Given the description of an element on the screen output the (x, y) to click on. 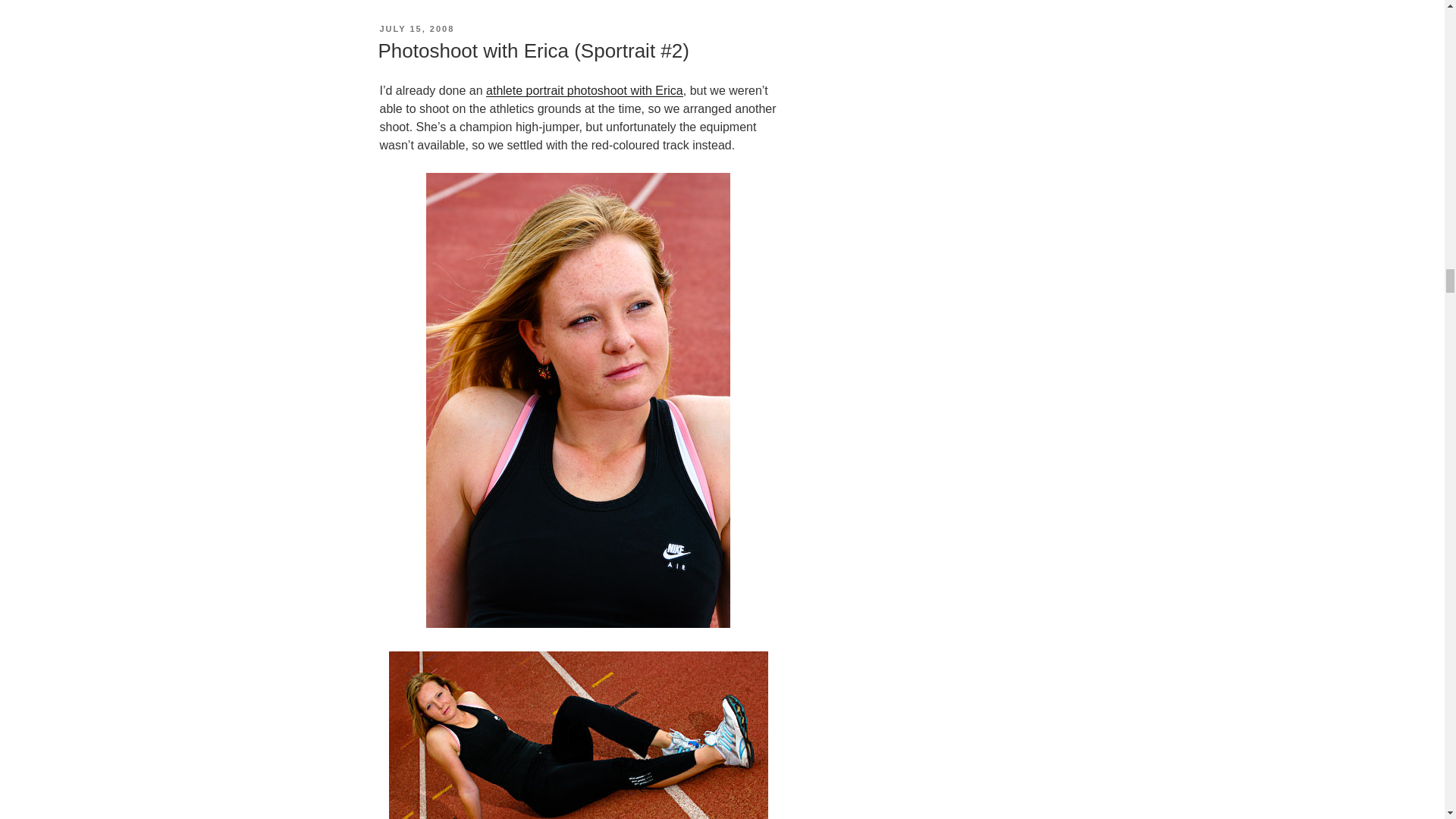
athlete portrait photoshoot with Erica (584, 90)
JULY 15, 2008 (416, 28)
Erica - Sportrait (578, 735)
